Given the description of an element on the screen output the (x, y) to click on. 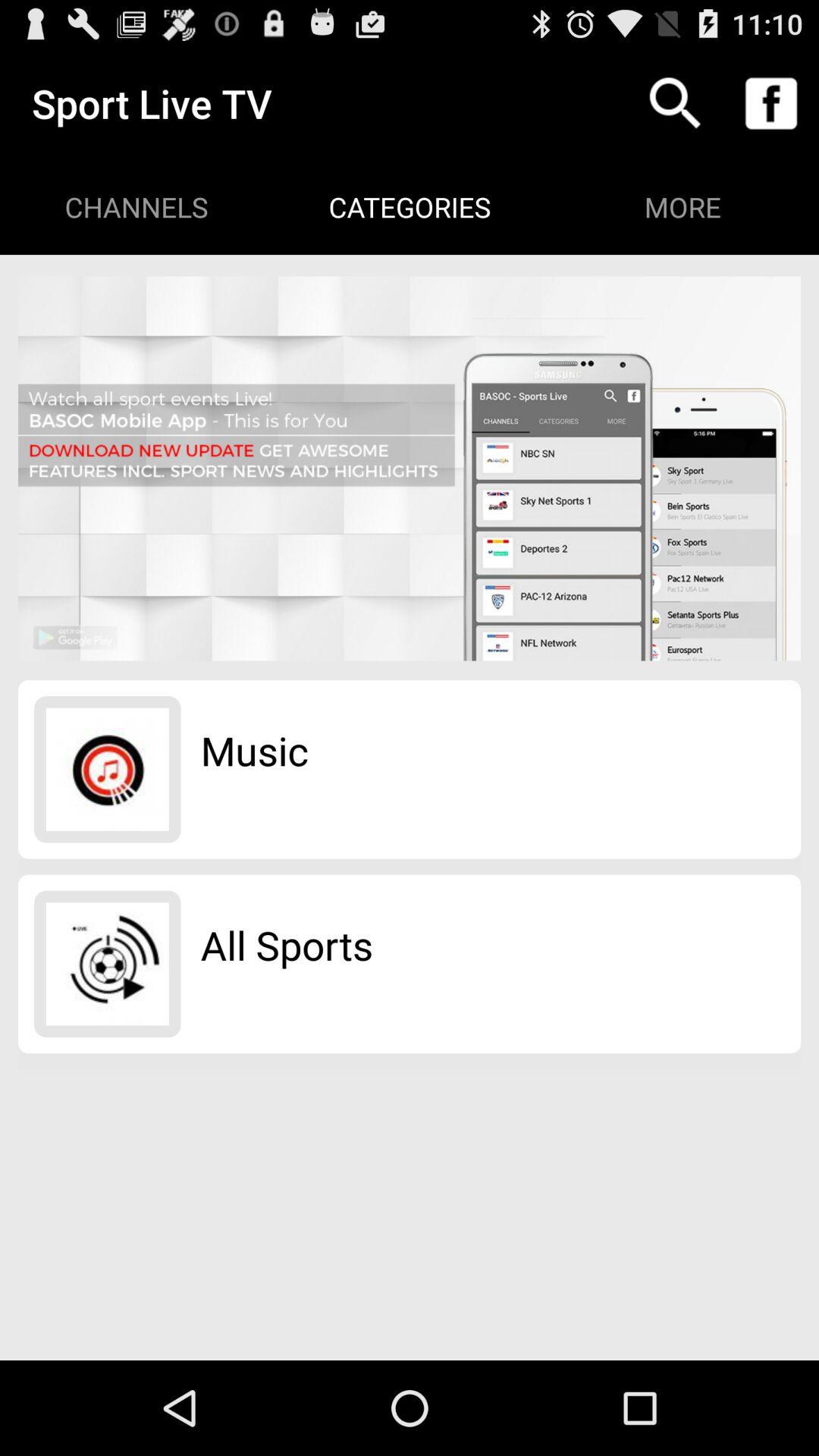
launch the music app (254, 750)
